Given the description of an element on the screen output the (x, y) to click on. 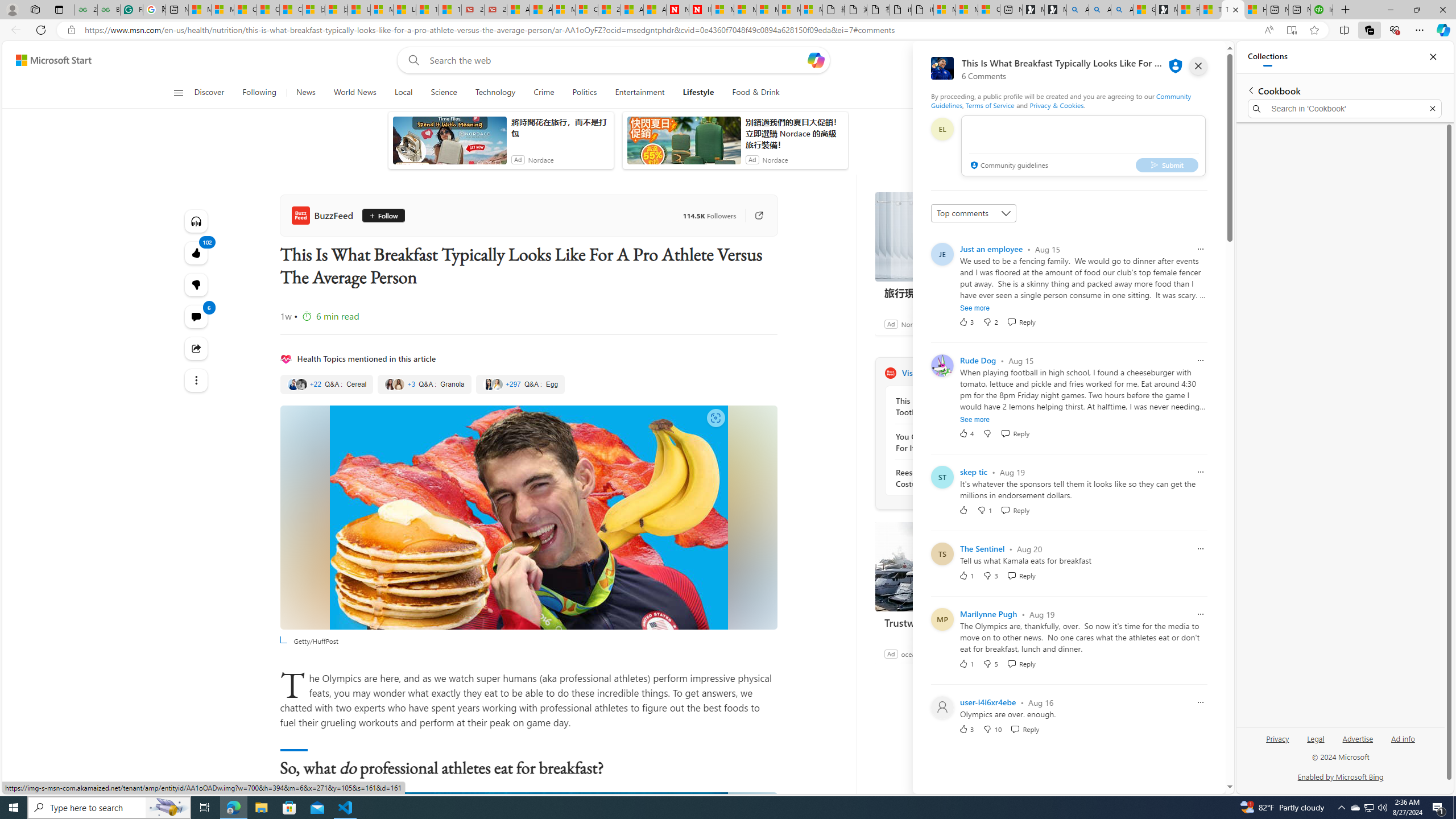
Trustworthy Repairs (960, 566)
Report comment (1200, 702)
